Given the description of an element on the screen output the (x, y) to click on. 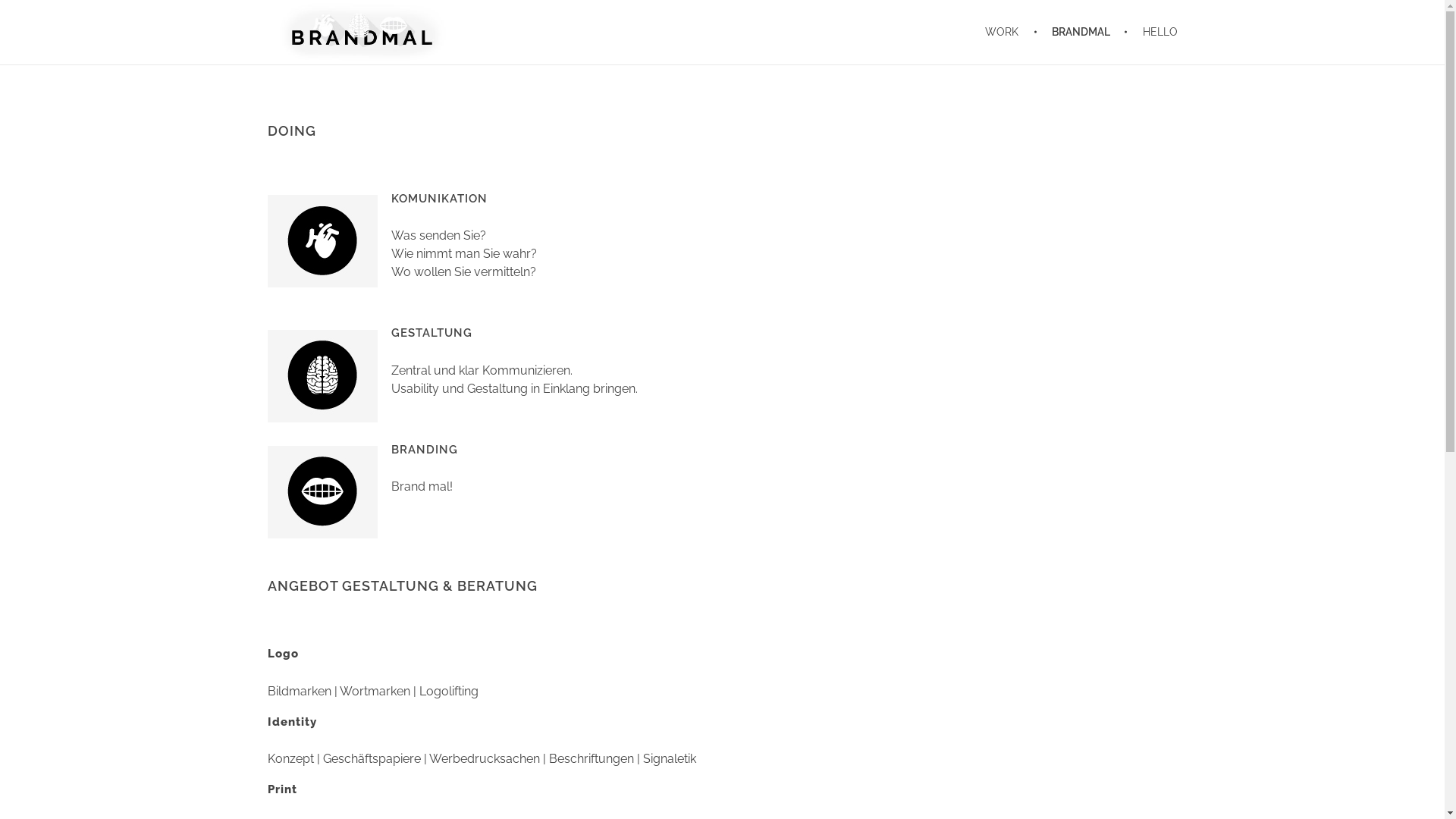
BRANDMAL Element type: text (1082, 32)
HELLO Element type: text (1152, 32)
WORK Element type: text (1011, 32)
